Given the description of an element on the screen output the (x, y) to click on. 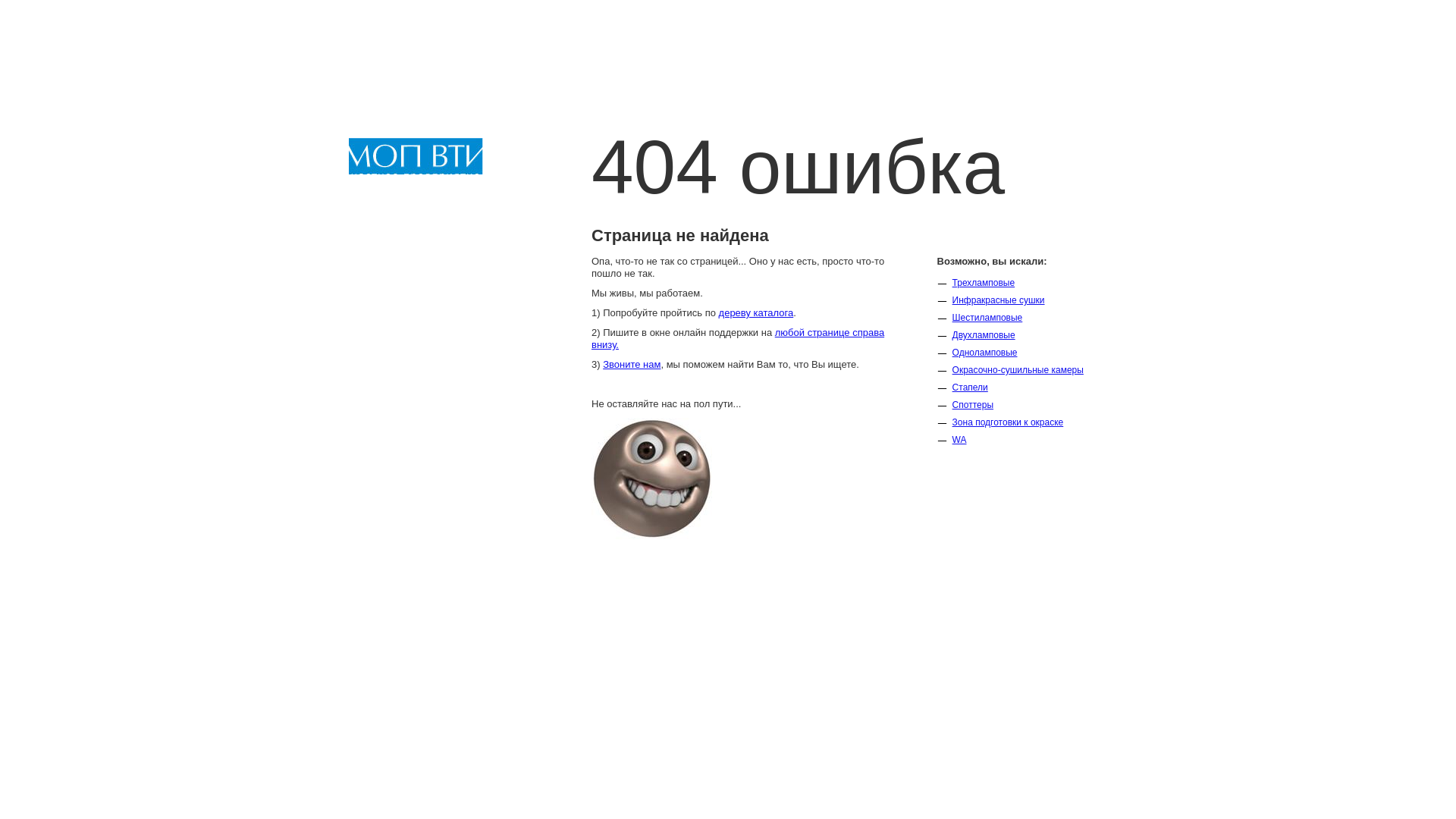
WA Element type: text (959, 439)
